Given the description of an element on the screen output the (x, y) to click on. 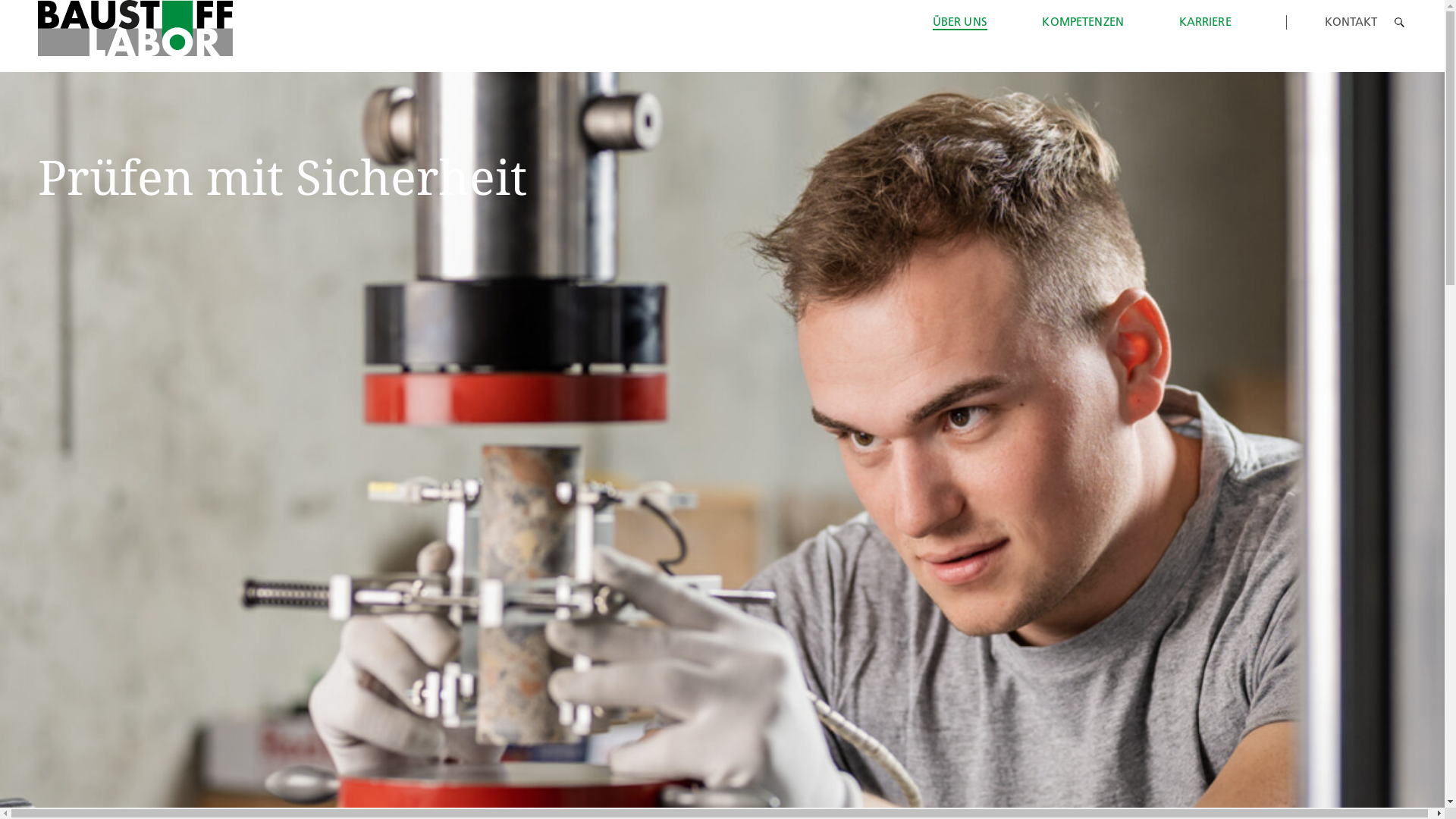
KONTAKT Element type: text (1350, 21)
KARRIERE Element type: text (1205, 21)
SUCHE Element type: text (1399, 22)
KOMPETENZEN Element type: text (1082, 21)
